Given the description of an element on the screen output the (x, y) to click on. 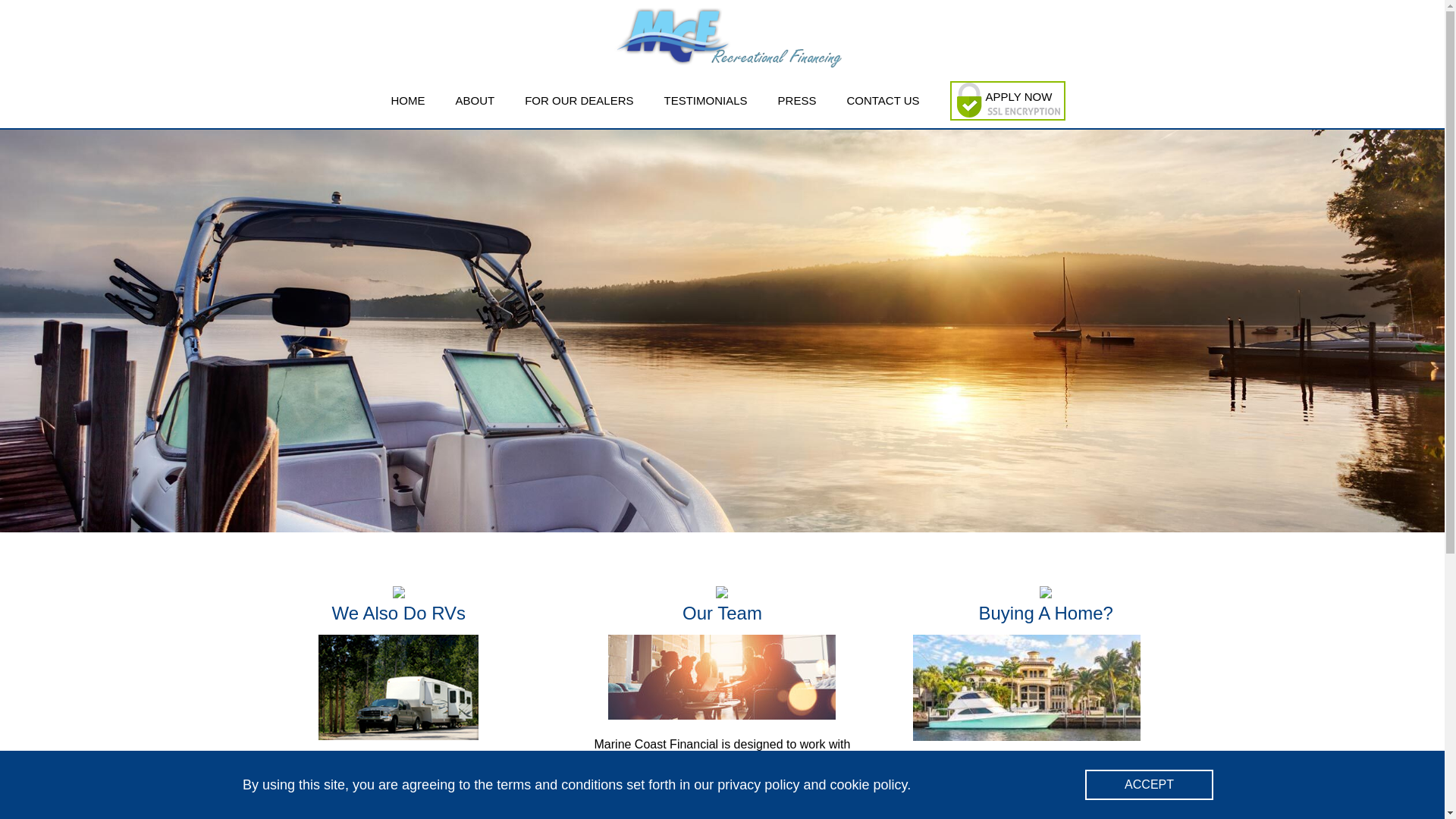
CONTACT US (881, 100)
TESTIMONIALS (705, 100)
FOR OUR DEALERS (578, 100)
APPLY NOW (1024, 96)
Apply Now (1024, 96)
HOME (407, 100)
PRESS (796, 100)
ACCEPT (1148, 784)
ABOUT (474, 100)
